Given the description of an element on the screen output the (x, y) to click on. 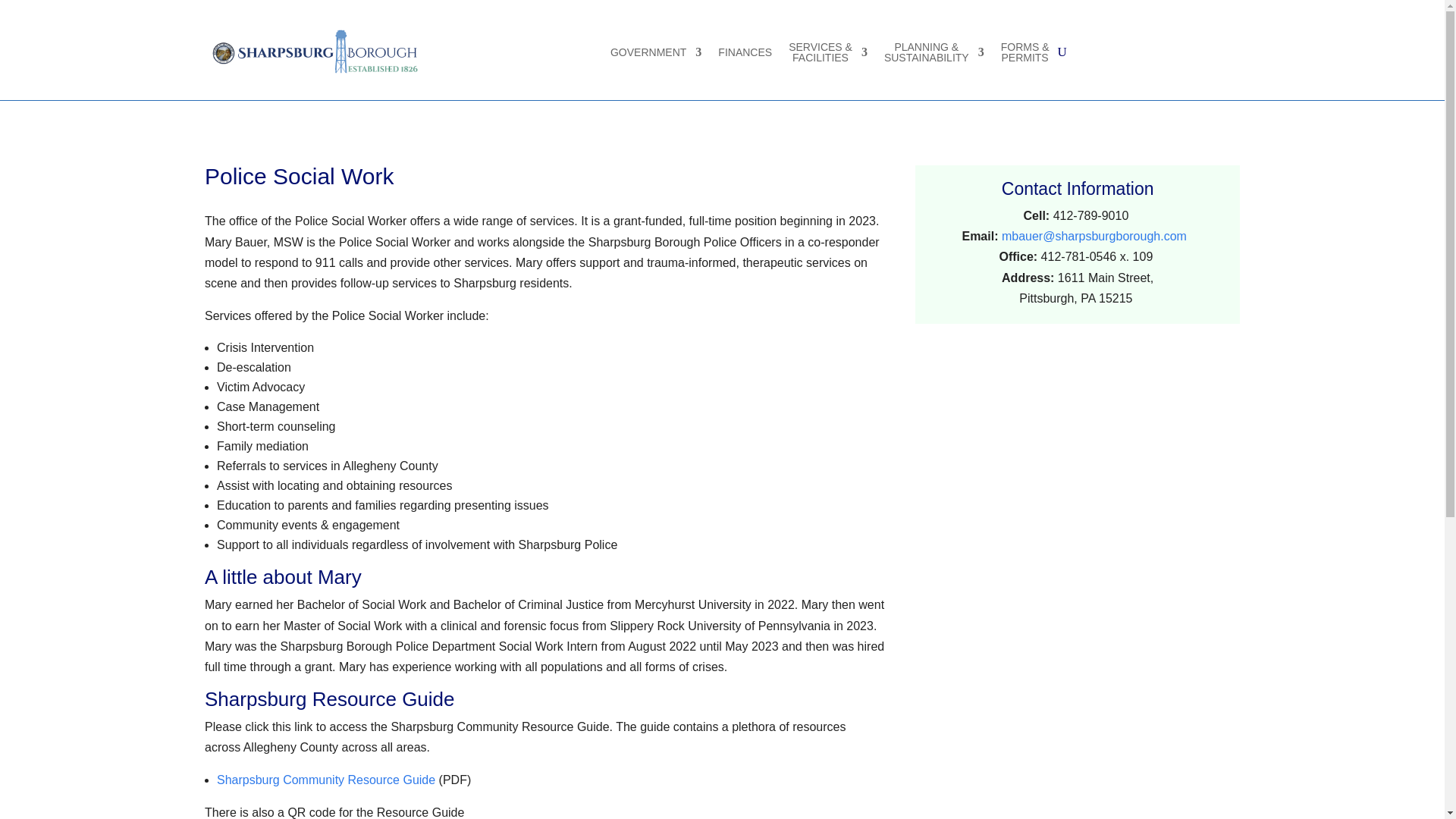
GOVERNMENT (655, 52)
